Given the description of an element on the screen output the (x, y) to click on. 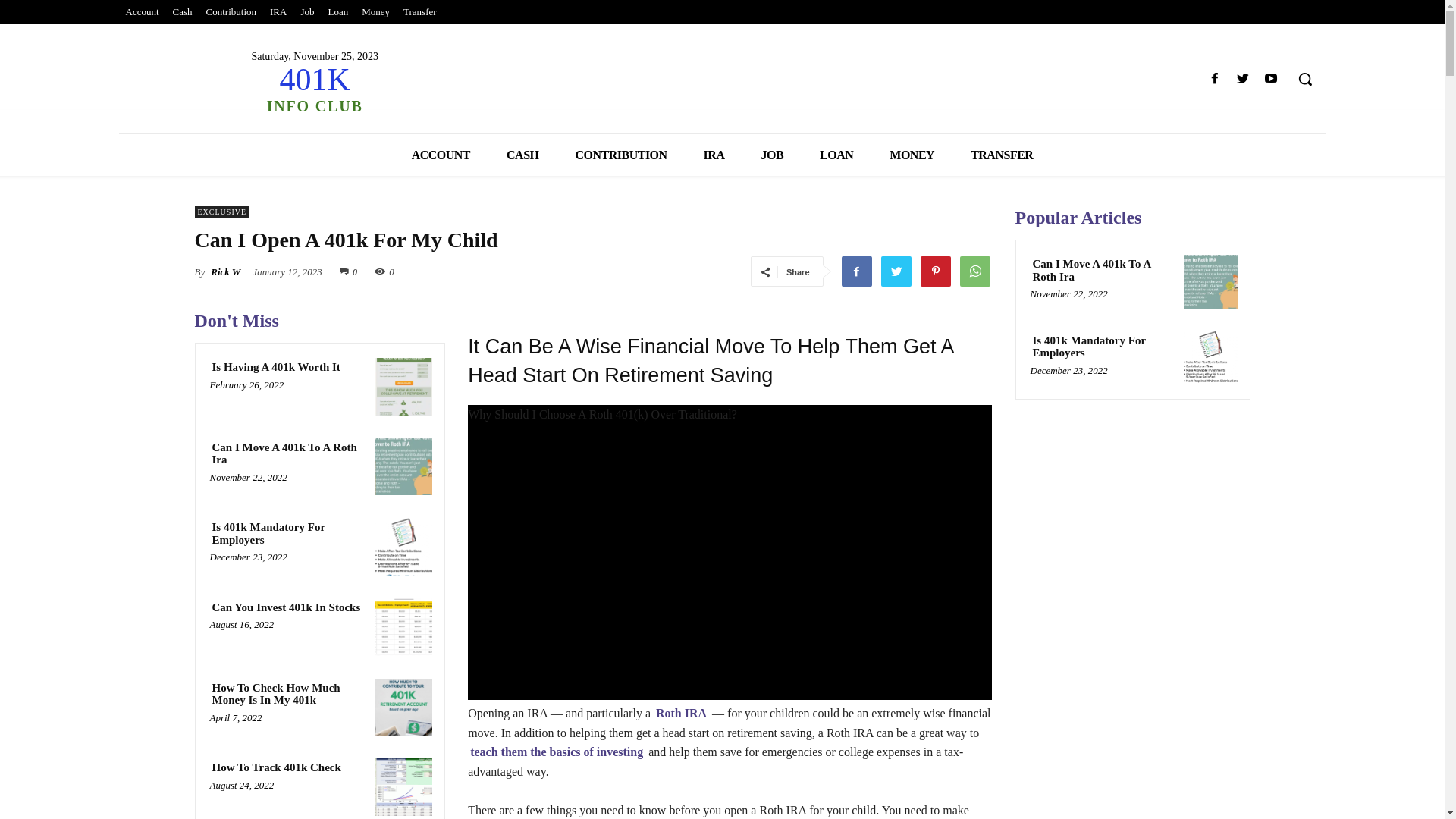
Can You Invest 401k In Stocks Element type: text (285, 607)
JOB Element type: text (771, 154)
Is 401k Mandatory For Employers Element type: hover (401, 546)
Loan Element type: text (337, 11)
CASH Element type: text (522, 154)
Pinterest Element type: hover (934, 271)
Roth IRA Element type: text (681, 713)
Account Element type: text (141, 11)
Can I Move A 401k To A Roth Ira Element type: text (1101, 269)
401K
INFO CLUB Element type: text (314, 87)
Twitter Element type: hover (895, 271)
Can I Move A 401k To A Roth Ira Element type: hover (401, 466)
Is Having A 401k Worth It Element type: text (275, 366)
Transfer Element type: text (419, 11)
Facebook Element type: hover (1214, 79)
How To Track 401k Check Element type: text (275, 767)
IRA Element type: text (278, 11)
teach them the basics of investing Element type: text (556, 752)
Youtube Element type: hover (1270, 79)
Is Having A 401k Worth It Element type: hover (401, 386)
ACCOUNT Element type: text (440, 154)
0 Element type: text (348, 271)
Rick W Element type: text (225, 271)
CONTRIBUTION Element type: text (620, 154)
Is 401k Mandatory For Employers Element type: hover (1207, 357)
How To Check How Much Money Is In My 401k Element type: text (286, 693)
Cash Element type: text (182, 11)
Can You Invest 401k In Stocks Element type: hover (401, 626)
How To Check How Much Money Is In My 401k Element type: hover (401, 707)
Money Element type: text (375, 11)
MONEY Element type: text (911, 154)
Twitter Element type: hover (1242, 79)
IRA Element type: text (714, 154)
WhatsApp Element type: hover (974, 271)
Facebook Element type: hover (855, 271)
Is 401k Mandatory For Employers Element type: text (286, 533)
Can I Move A 401k To A Roth Ira Element type: text (286, 453)
TRANSFER Element type: text (1001, 154)
LOAN Element type: text (836, 154)
How To Track 401k Check Element type: hover (401, 786)
Is 401k Mandatory For Employers Element type: text (1101, 346)
Job Element type: text (306, 11)
EXCLUSIVE Element type: text (221, 211)
Contribution Element type: text (231, 11)
Can I Move A 401k To A Roth Ira Element type: hover (1207, 280)
